Given the description of an element on the screen output the (x, y) to click on. 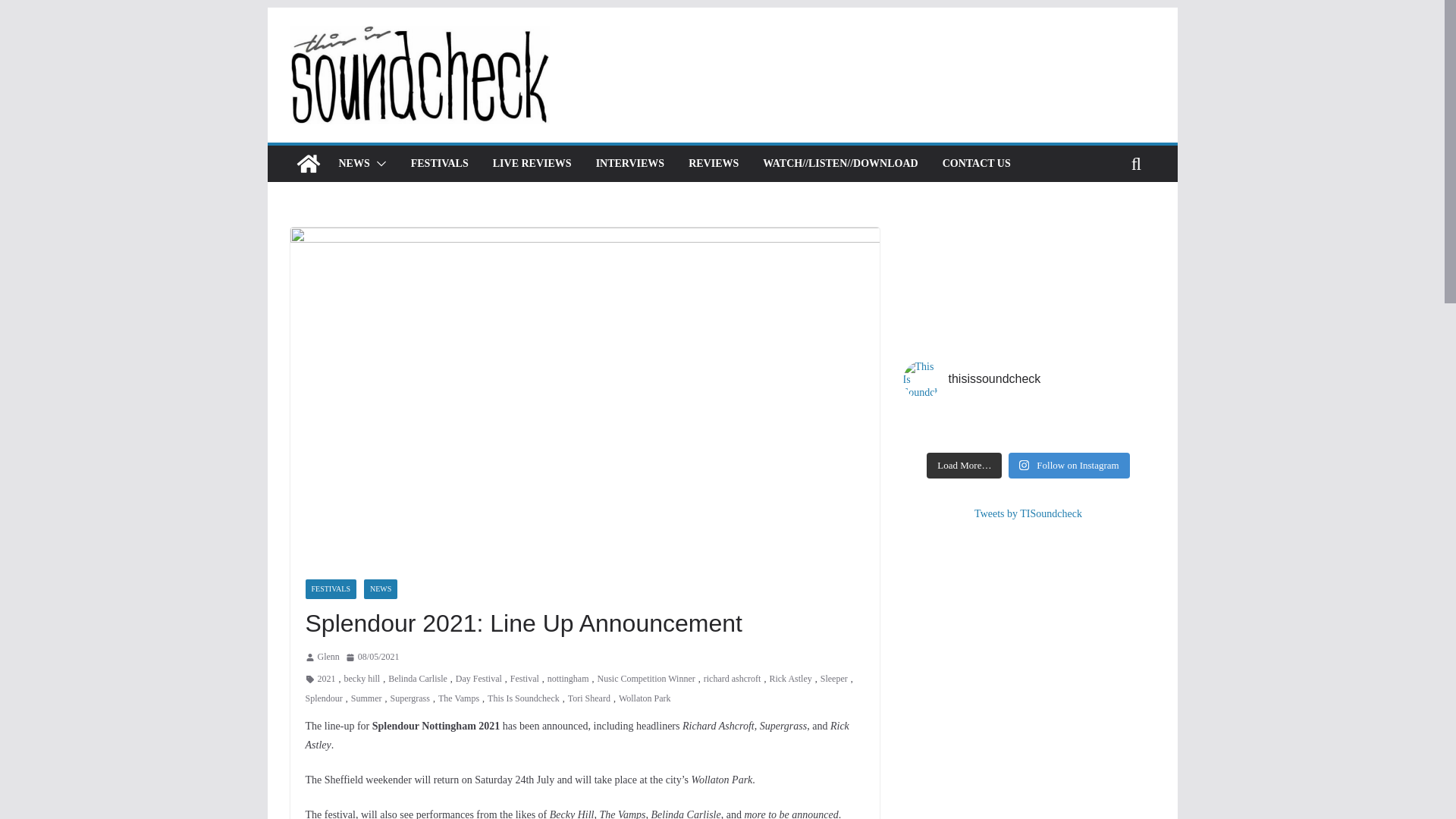
Glenn (328, 657)
Summer (365, 699)
Spotify Embed: This Is Soundcheck (1028, 281)
Sleeper (834, 678)
Glenn (328, 657)
This Is Soundcheck (307, 163)
This Is Soundcheck (523, 699)
nottingham (568, 678)
Tori Sheard (588, 699)
